Given the description of an element on the screen output the (x, y) to click on. 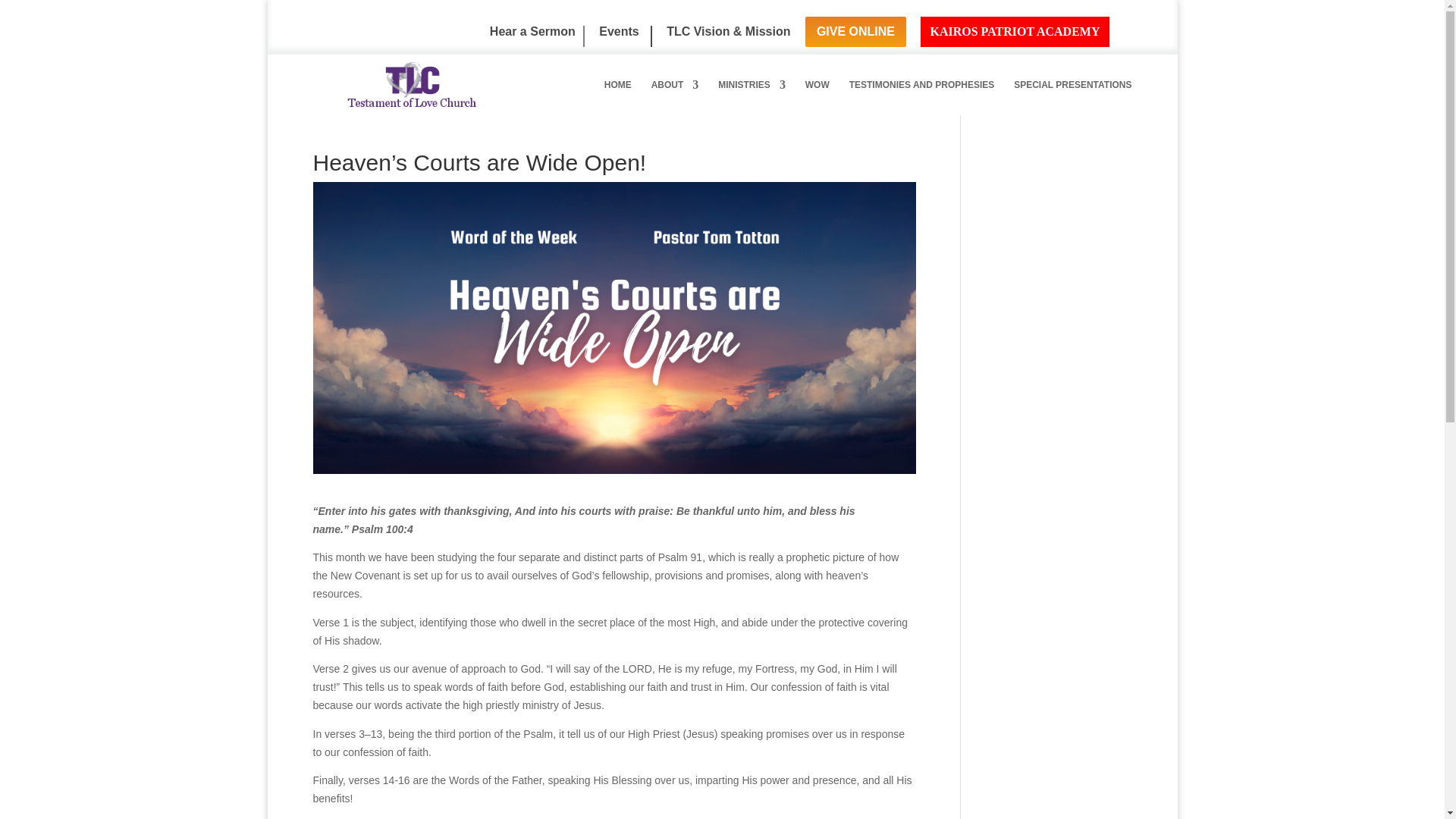
KAIROS PATRIOT ACADEMY (1014, 31)
Events (624, 35)
GIVE ONLINE (855, 31)
TESTIMONIES AND PROPHESIES (921, 95)
SPECIAL PRESENTATIONS (1072, 95)
ABOUT (674, 95)
MINISTRIES (751, 95)
Hear a Sermon (532, 35)
